Given the description of an element on the screen output the (x, y) to click on. 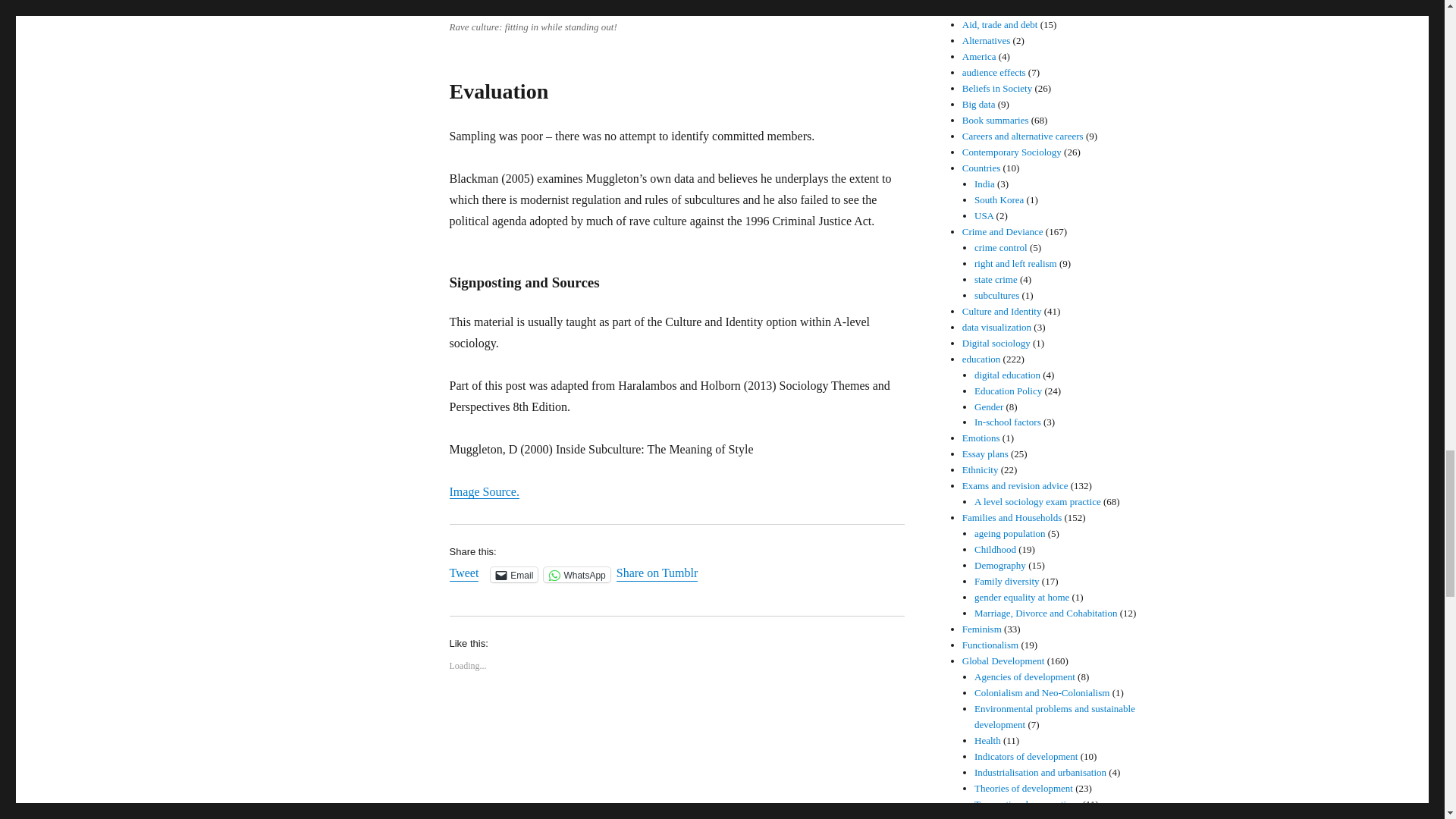
Click to share on WhatsApp (576, 574)
Email (513, 574)
Tweet (463, 573)
Click to email a link to a friend (513, 574)
WhatsApp (576, 574)
Share on Tumblr (656, 573)
Image Source. (483, 491)
Share on Tumblr (656, 573)
